Given the description of an element on the screen output the (x, y) to click on. 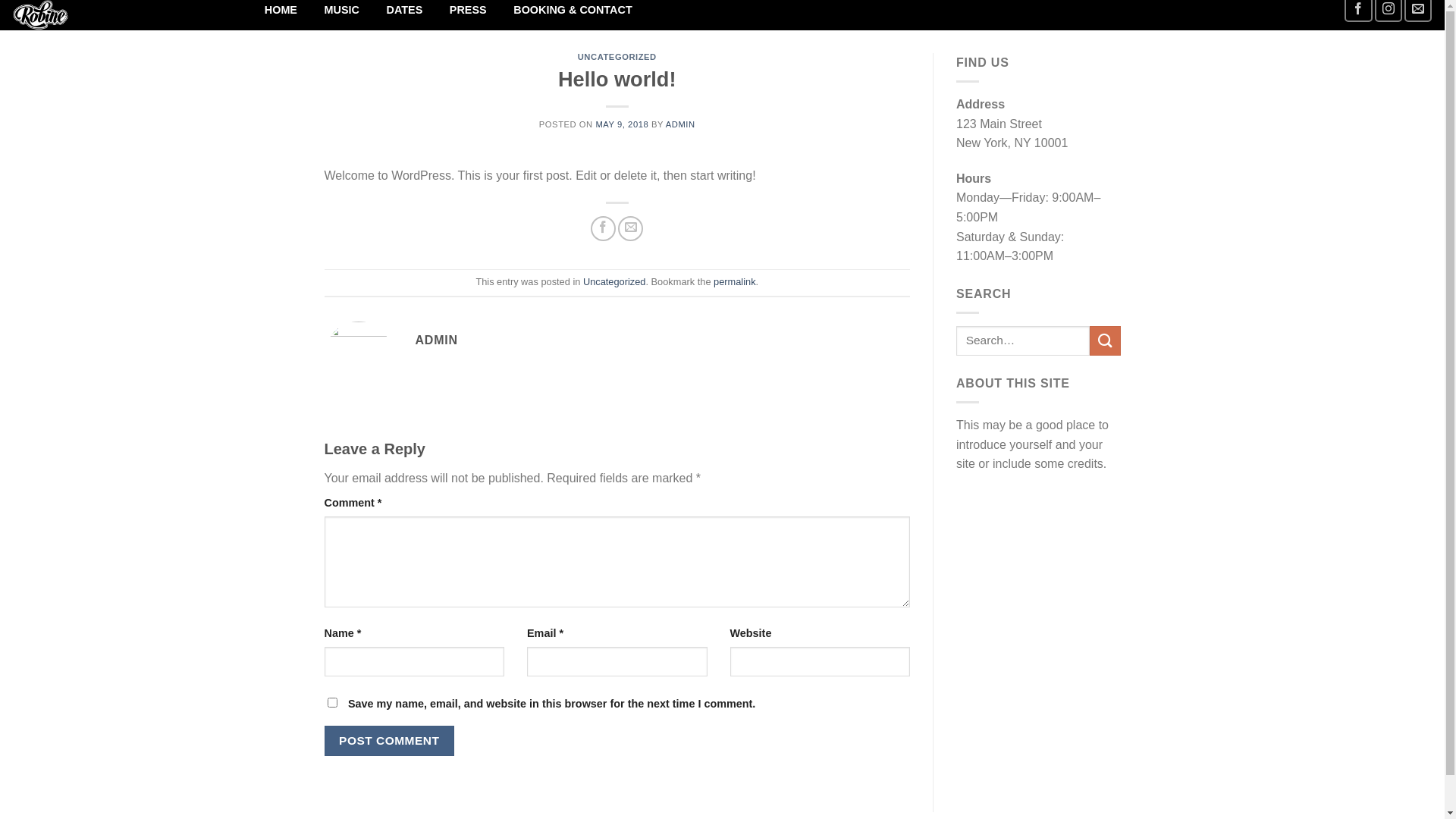
PRESS Element type: text (467, 10)
DATES Element type: text (404, 10)
Uncategorized Element type: text (614, 281)
BOOKING & CONTACT Element type: text (572, 10)
Post Comment Element type: text (389, 740)
MUSIC Element type: text (341, 10)
UNCATEGORIZED Element type: text (616, 56)
MAY 9, 2018 Element type: text (621, 123)
permalink Element type: text (734, 281)
HOME Element type: text (280, 10)
ADMIN Element type: text (680, 123)
